Given the description of an element on the screen output the (x, y) to click on. 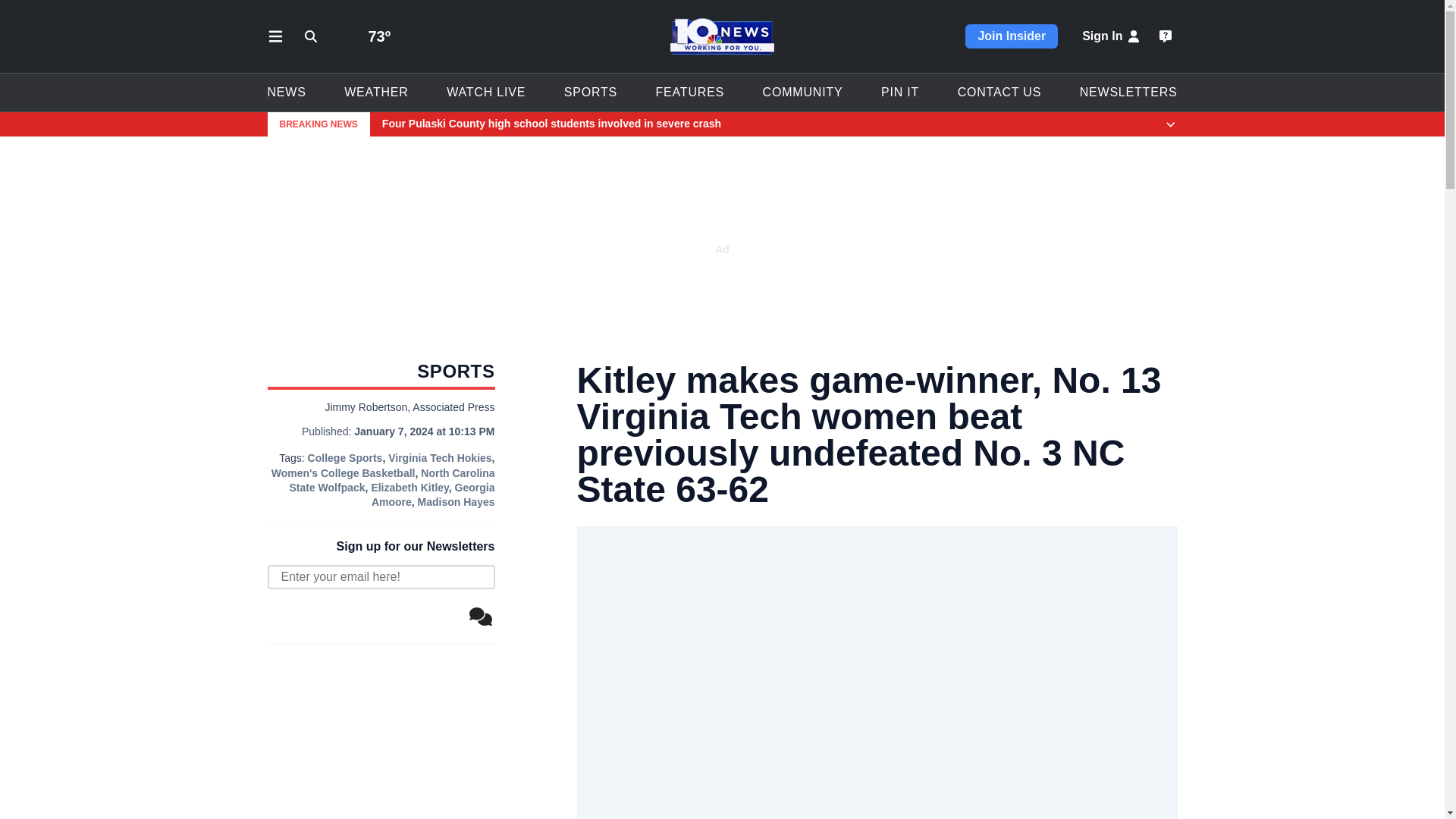
Join Insider (1011, 36)
Sign In (1111, 36)
